Given the description of an element on the screen output the (x, y) to click on. 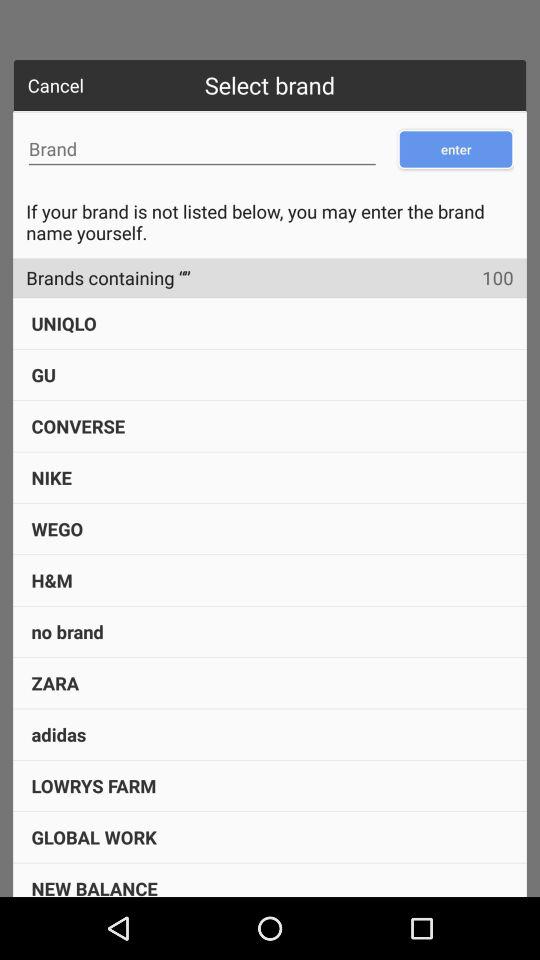
turn off item above the if your brand icon (202, 149)
